Given the description of an element on the screen output the (x, y) to click on. 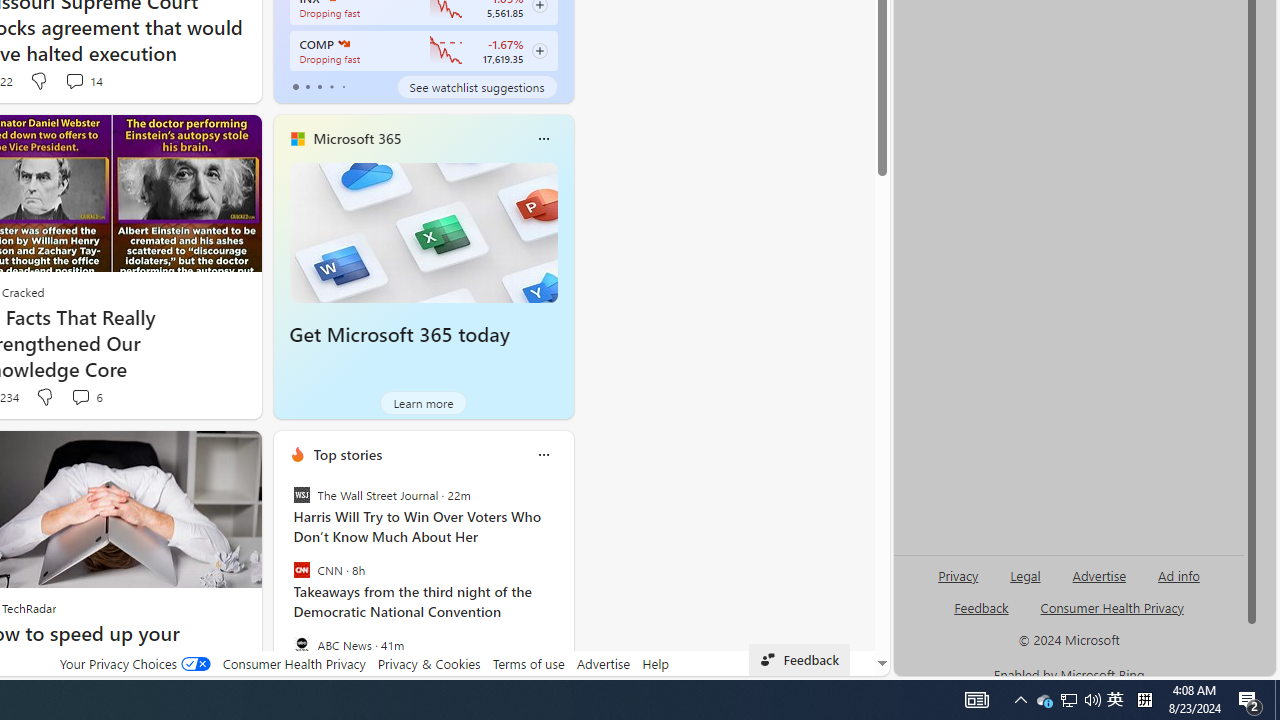
tab-4 (342, 86)
ABC News (301, 644)
tab-3 (331, 86)
previous (283, 583)
View comments 6 Comment (80, 396)
View comments 14 Comment (74, 80)
Get Microsoft 365 today (399, 335)
Get Microsoft 365 today (423, 232)
